Given the description of an element on the screen output the (x, y) to click on. 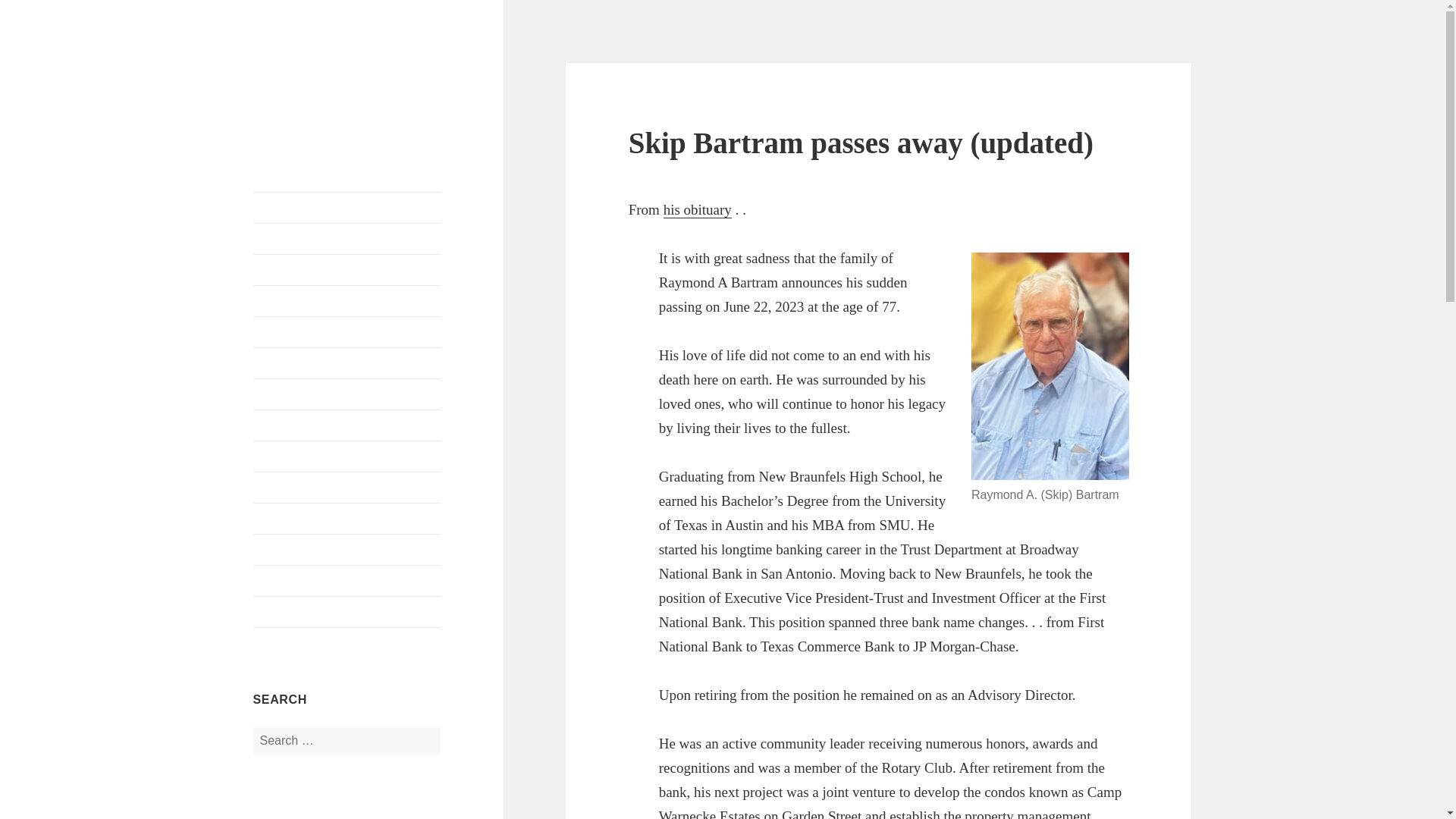
Weeds Committee (347, 487)
Social Committee (347, 456)
Sondreson Community Hall (347, 518)
NFLA Calendar (347, 238)
Newsletters (347, 580)
NFLA (280, 74)
North Fork Patrol (347, 549)
Welcome and Sunshine Committees (347, 363)
